Given the description of an element on the screen output the (x, y) to click on. 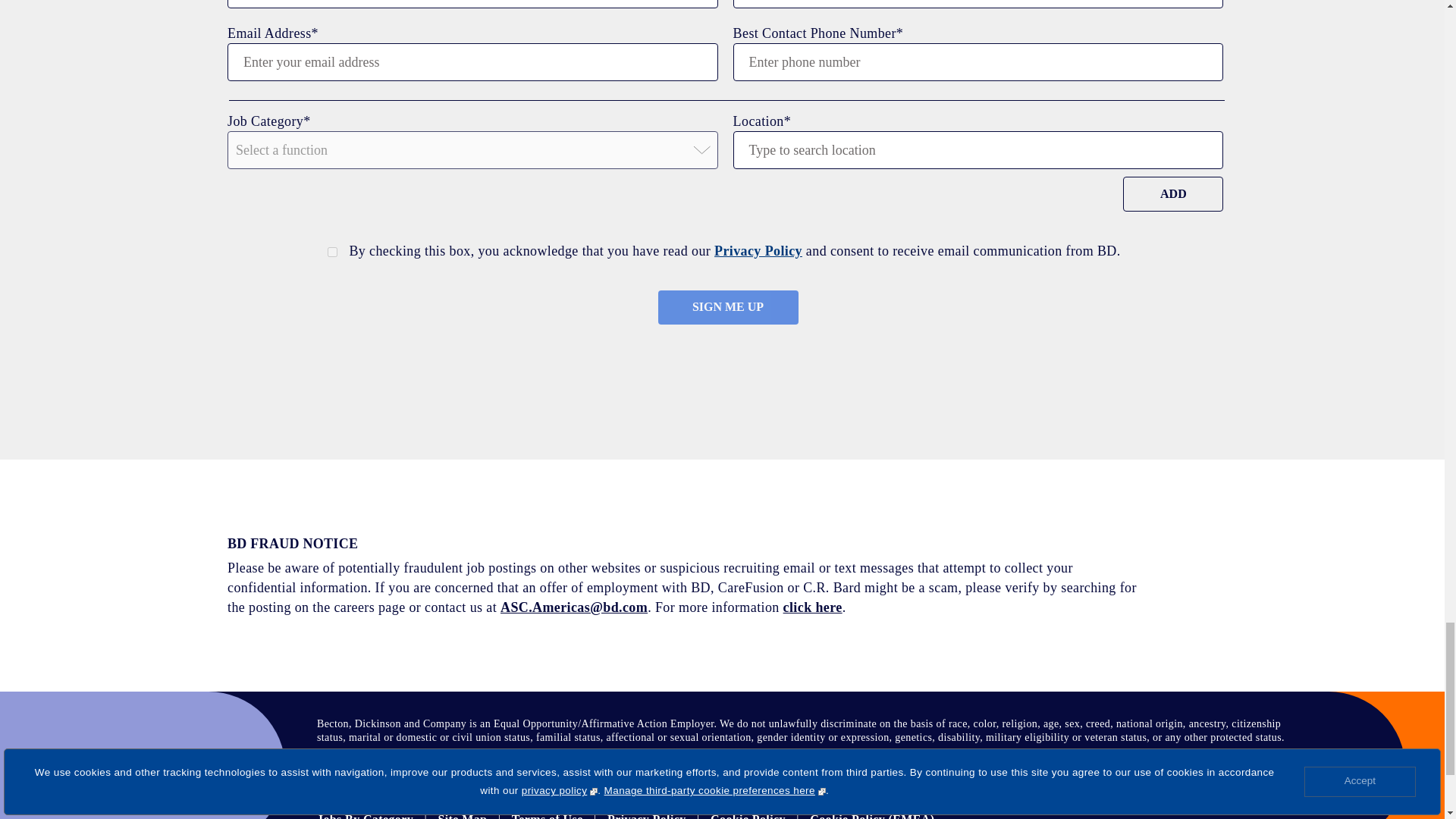
go to our terms of use (547, 816)
go to our cookie policy (748, 816)
go to our sitemap (462, 816)
go to our jobs by category (365, 816)
go to our privacy policy (646, 816)
